Given the description of an element on the screen output the (x, y) to click on. 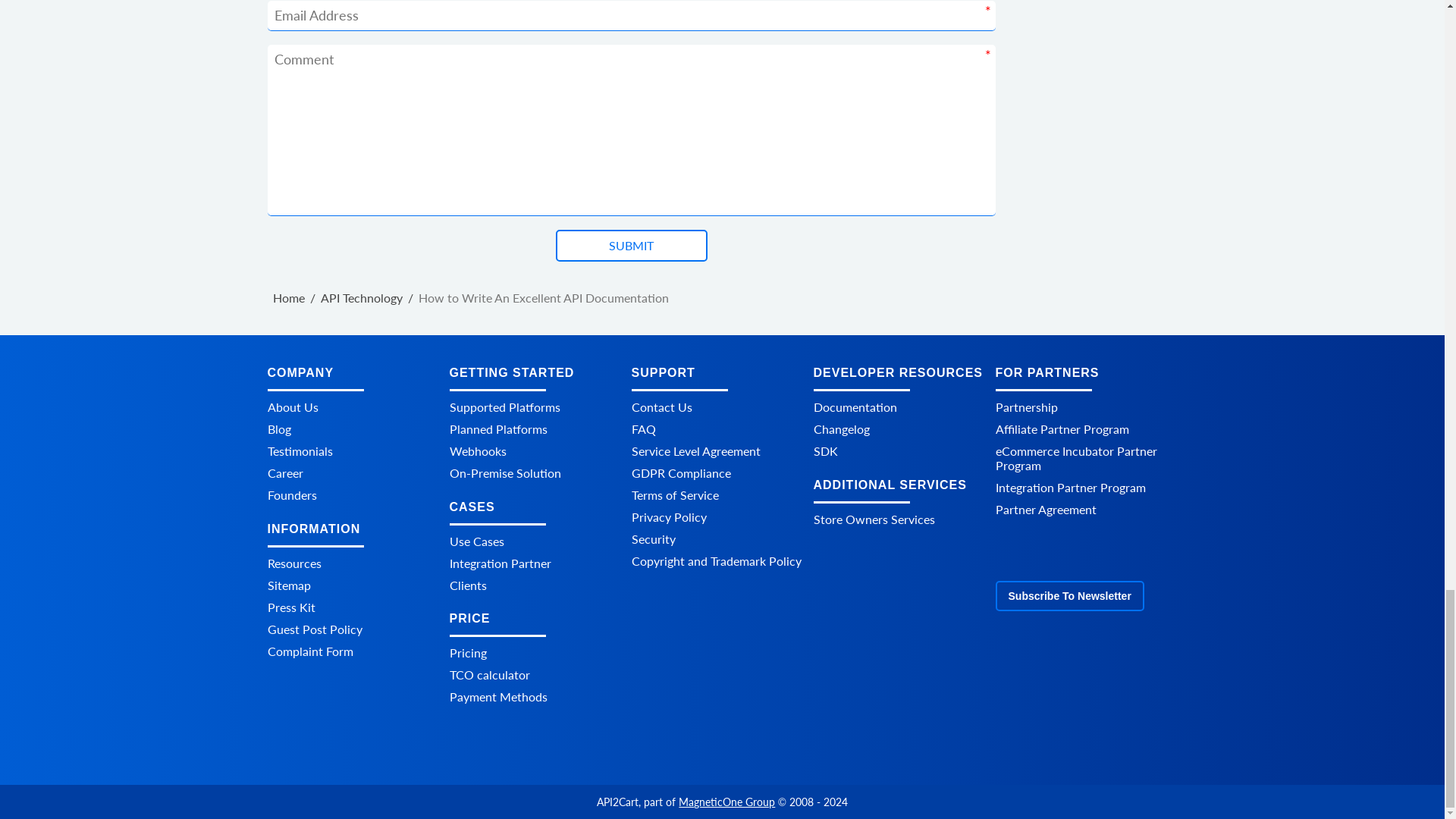
Submit (630, 245)
